Given the description of an element on the screen output the (x, y) to click on. 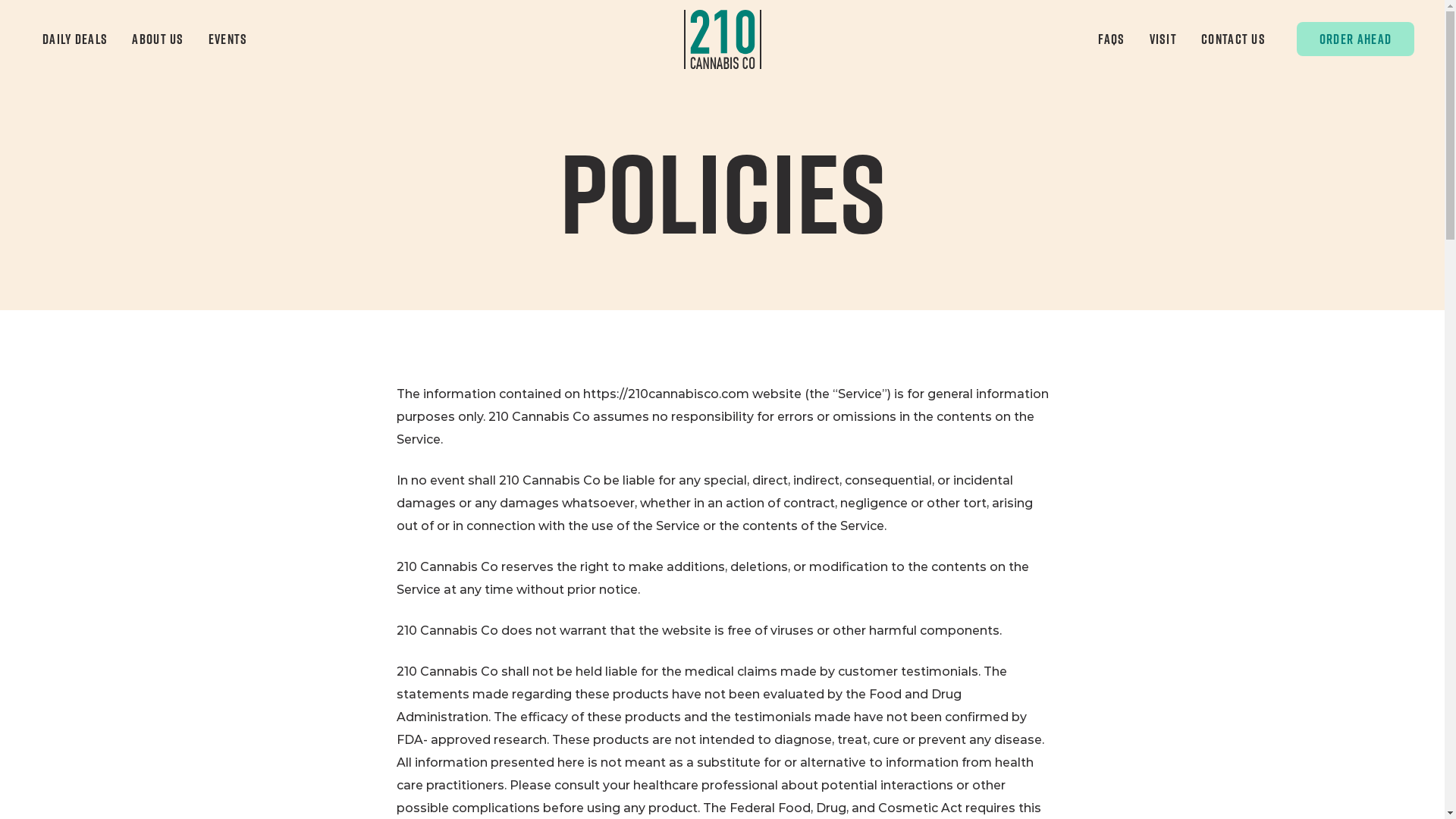
FAQS Element type: text (1110, 38)
home Element type: text (722, 39)
ORDER AHEAD Element type: text (1355, 38)
Skip to content Element type: text (0, 0)
VISIT Element type: text (1163, 38)
ABOUT US Element type: text (157, 38)
EVENTS Element type: text (228, 38)
CONTACT US Element type: text (1233, 38)
DAILY DEALS Element type: text (74, 38)
